Given the description of an element on the screen output the (x, y) to click on. 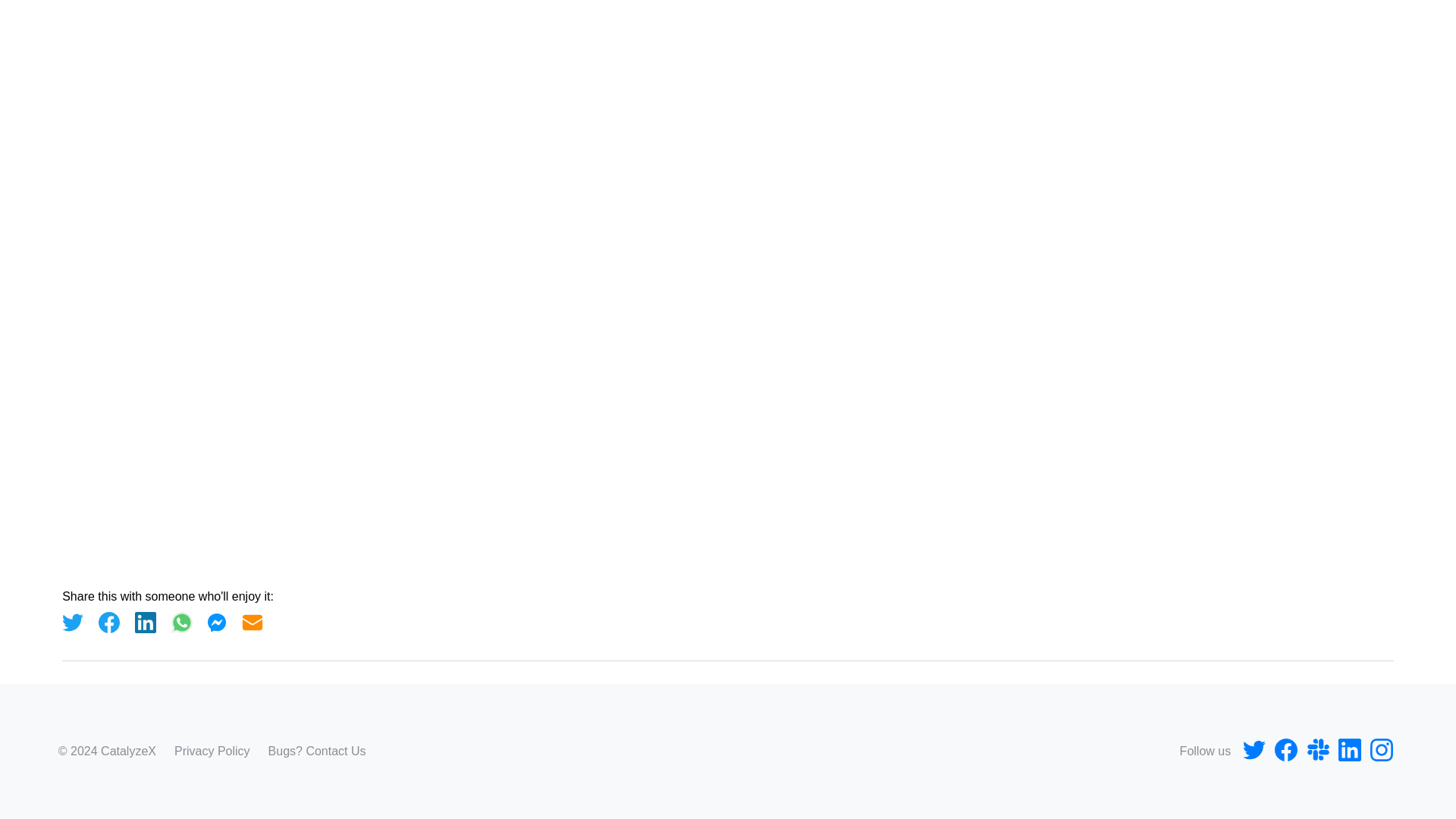
Linkedin Icon (1349, 751)
Privacy Policy (212, 750)
Facebook Icon (1285, 751)
Share via Email (252, 621)
Twitter Icon (1254, 751)
Slack Icon (1317, 750)
Bugs? Contact Us (316, 750)
